Given the description of an element on the screen output the (x, y) to click on. 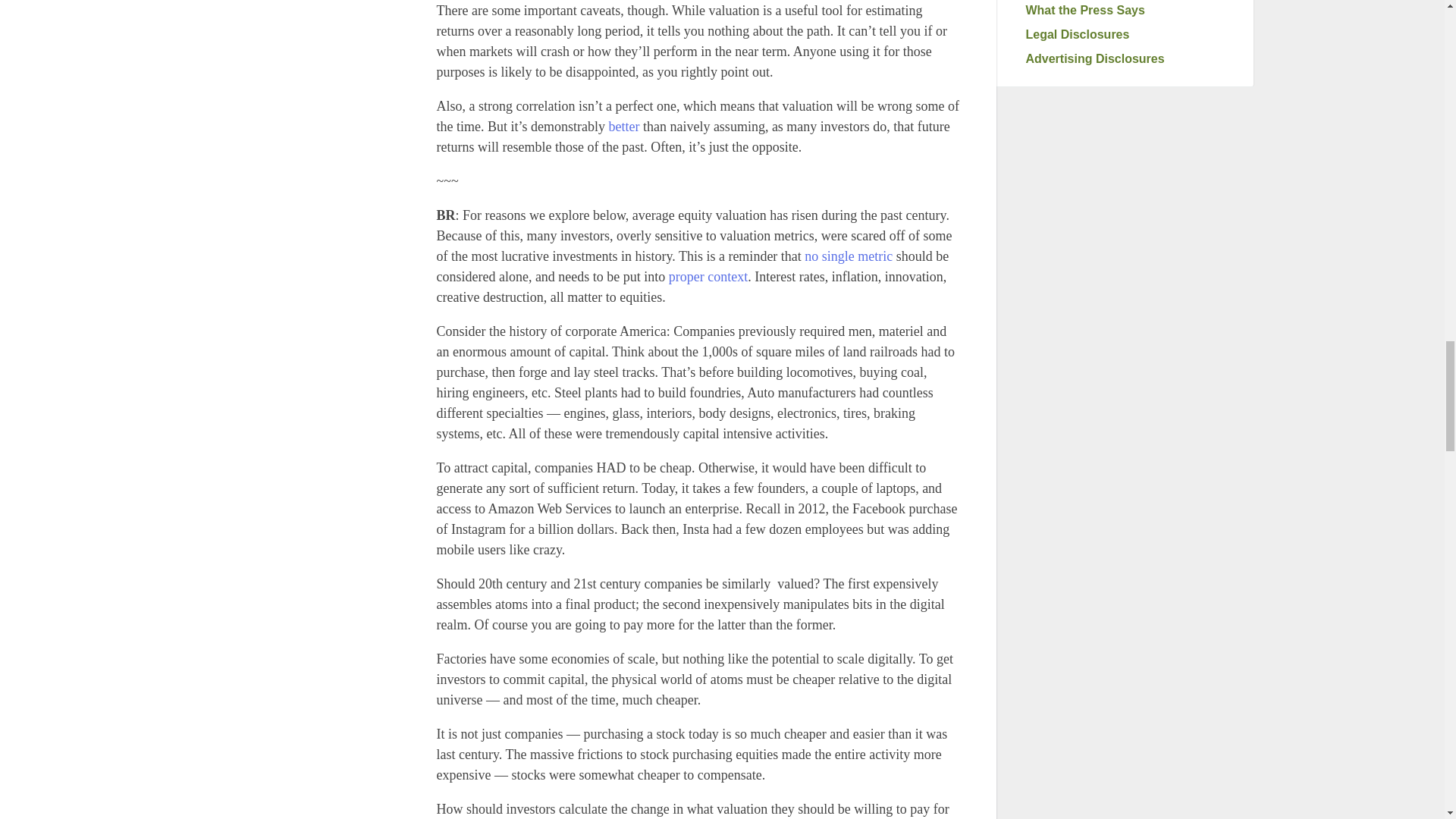
proper context (708, 276)
no single metric (848, 255)
better (622, 126)
